Given the description of an element on the screen output the (x, y) to click on. 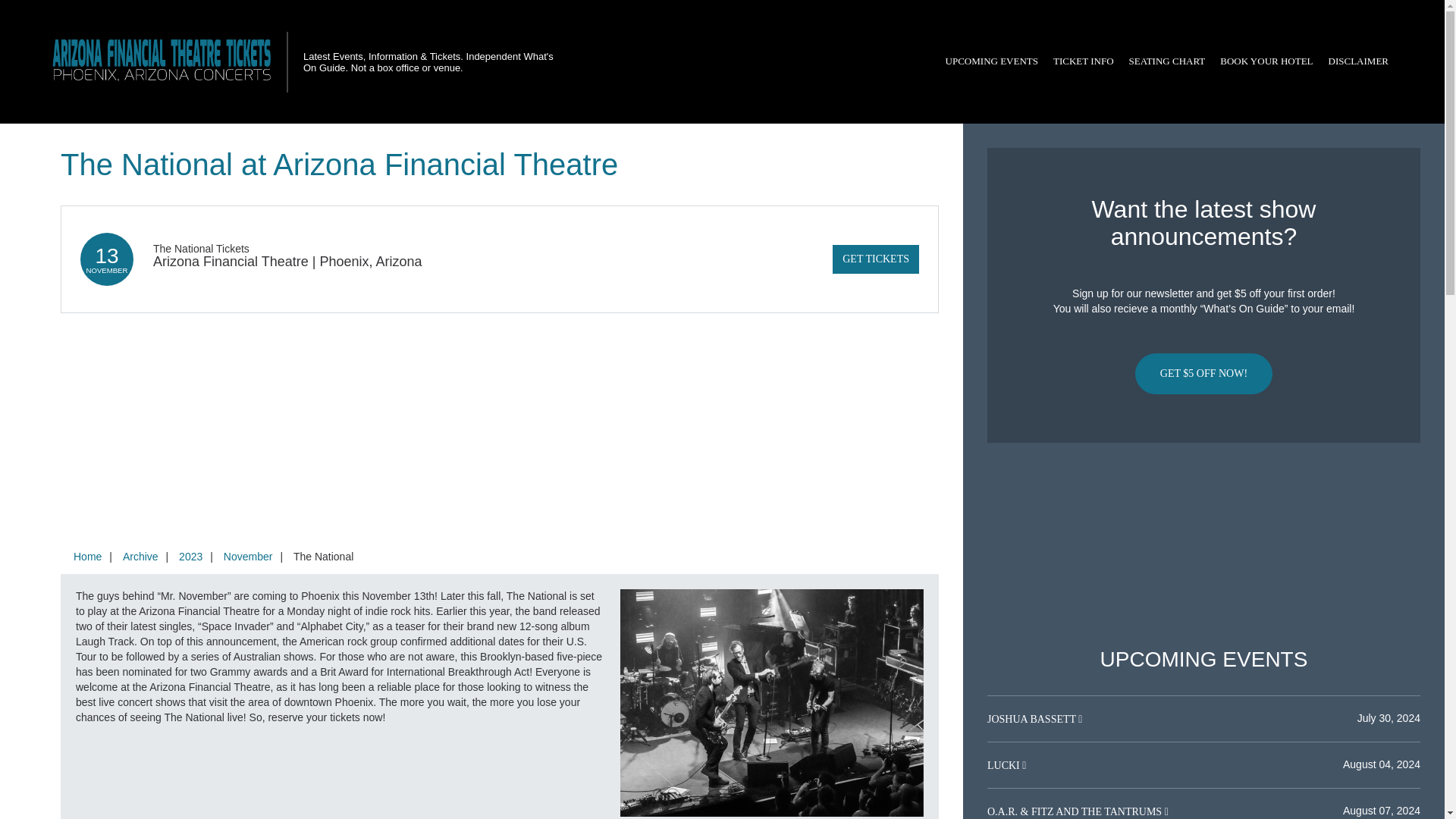
2023 (190, 556)
UPCOMING EVENTS (991, 61)
SEATING CHART (1166, 61)
TICKET INFO (1083, 61)
Archive (140, 556)
Advertisement (1204, 545)
Home (87, 556)
BOOK YOUR HOTEL (1266, 61)
GET TICKETS (875, 258)
The National Tickets (200, 248)
DISCLAIMER (1358, 61)
November (248, 556)
